Given the description of an element on the screen output the (x, y) to click on. 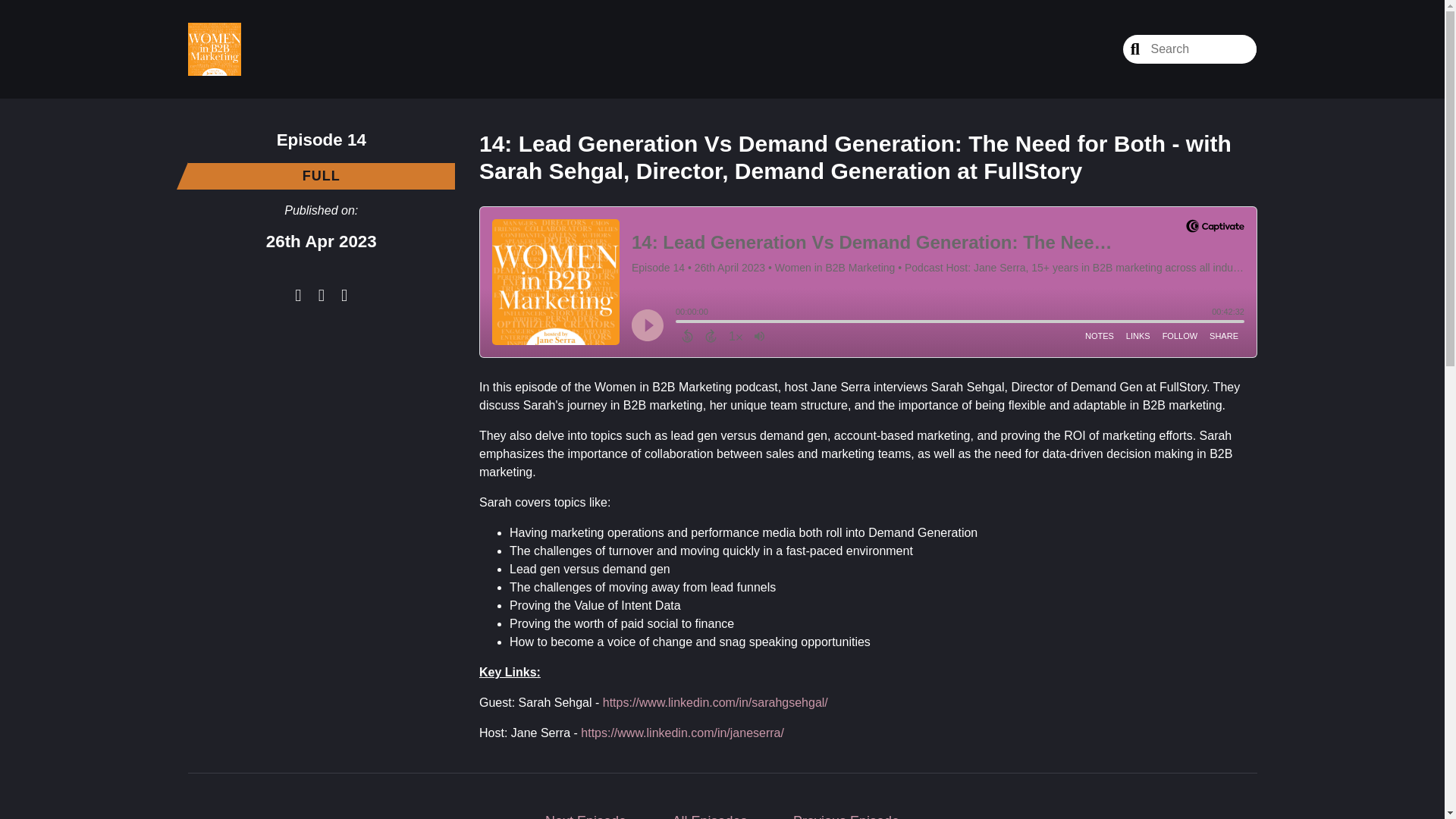
Next Episode (585, 811)
All Episodes (709, 811)
Previous Episode (845, 811)
